Given the description of an element on the screen output the (x, y) to click on. 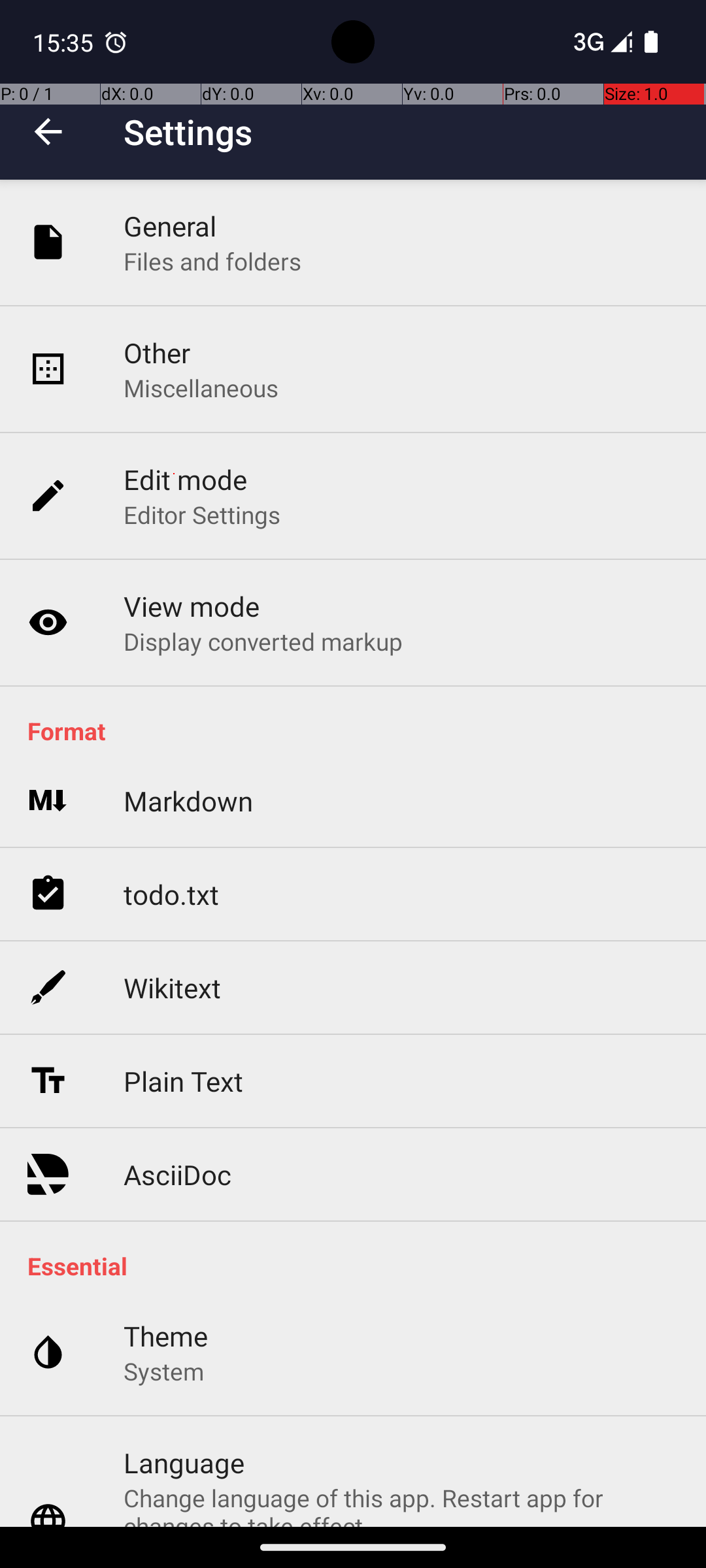
Essential Element type: android.widget.TextView (359, 1265)
Files and folders Element type: android.widget.TextView (212, 260)
Editor Settings Element type: android.widget.TextView (202, 514)
Display converted markup Element type: android.widget.TextView (263, 640)
Change language of this app. Restart app for changes to take effect

English (English, United States) Element type: android.widget.TextView (400, 1503)
